Given the description of an element on the screen output the (x, y) to click on. 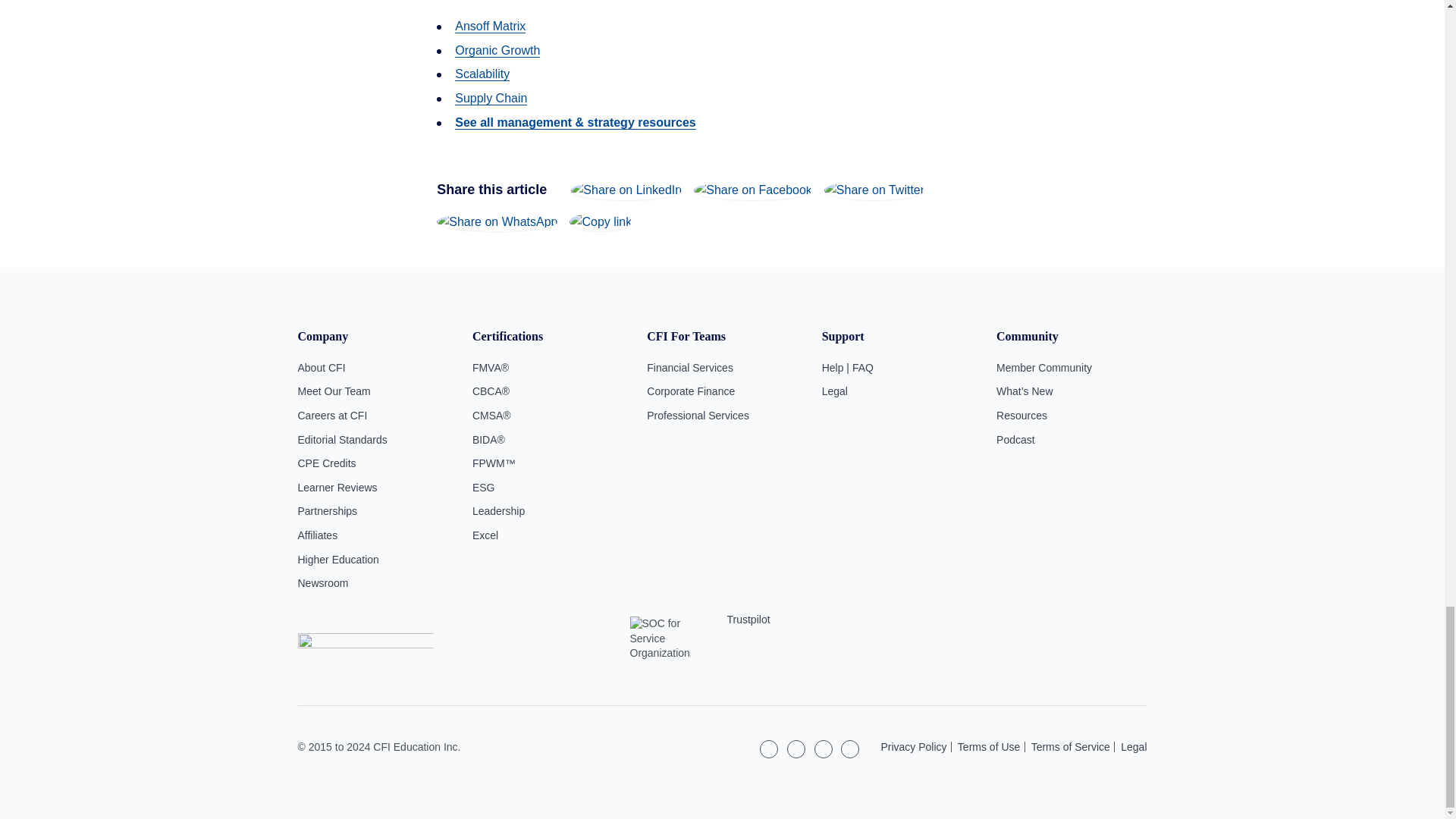
Share on Twitter (874, 189)
Follow us on LinkedIn (768, 749)
Copy link (600, 221)
Share on Facebook (753, 189)
Follow us on Instagram (796, 749)
Follow us on YouTube (850, 749)
Share on WhatsApp (496, 221)
Share on LinkedIn (625, 189)
Follow us on Facebook (822, 749)
